Given the description of an element on the screen output the (x, y) to click on. 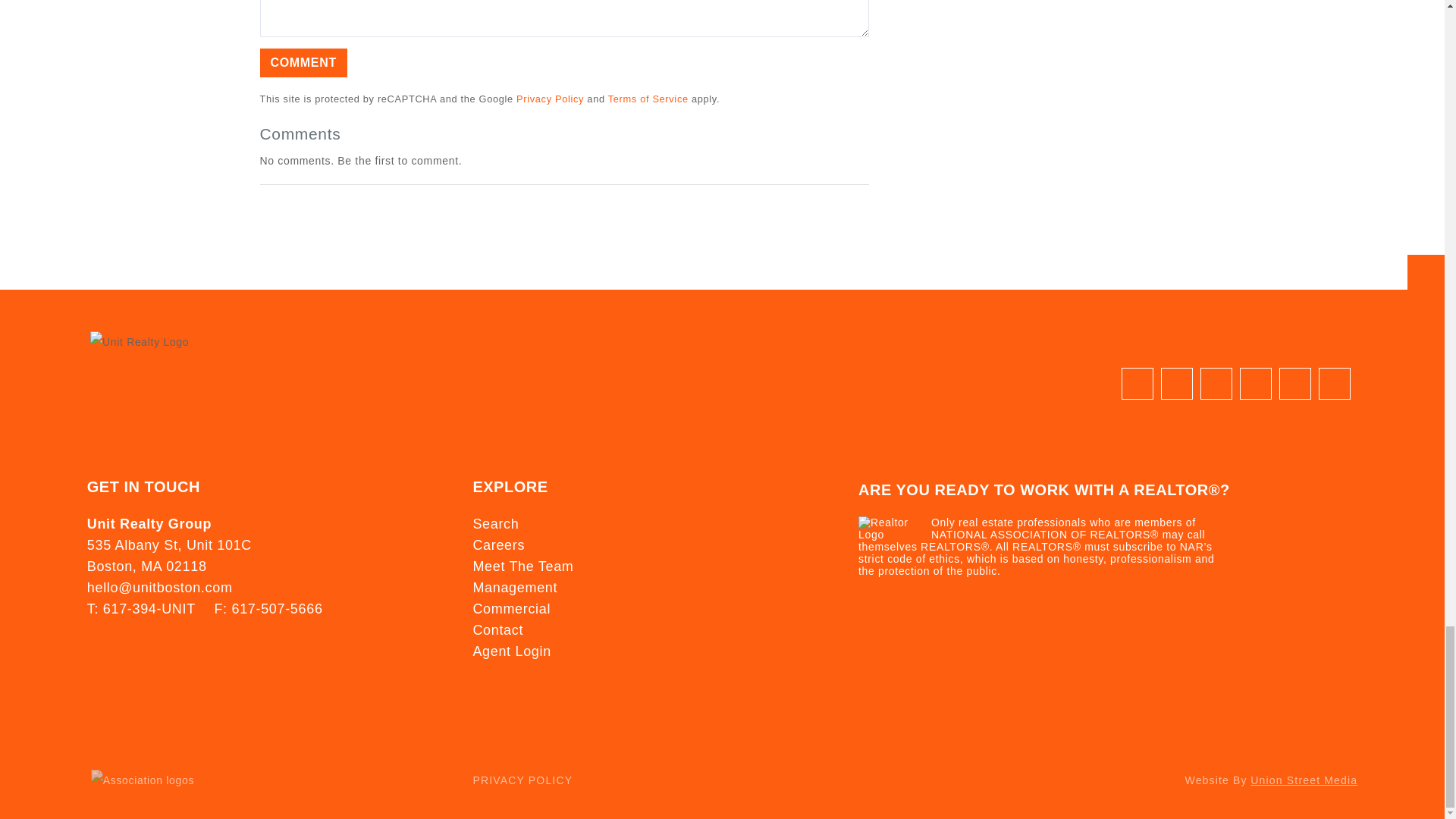
VT NH Real Estate Web Design (1303, 779)
Comment (302, 62)
Association logos (141, 780)
